Given the description of an element on the screen output the (x, y) to click on. 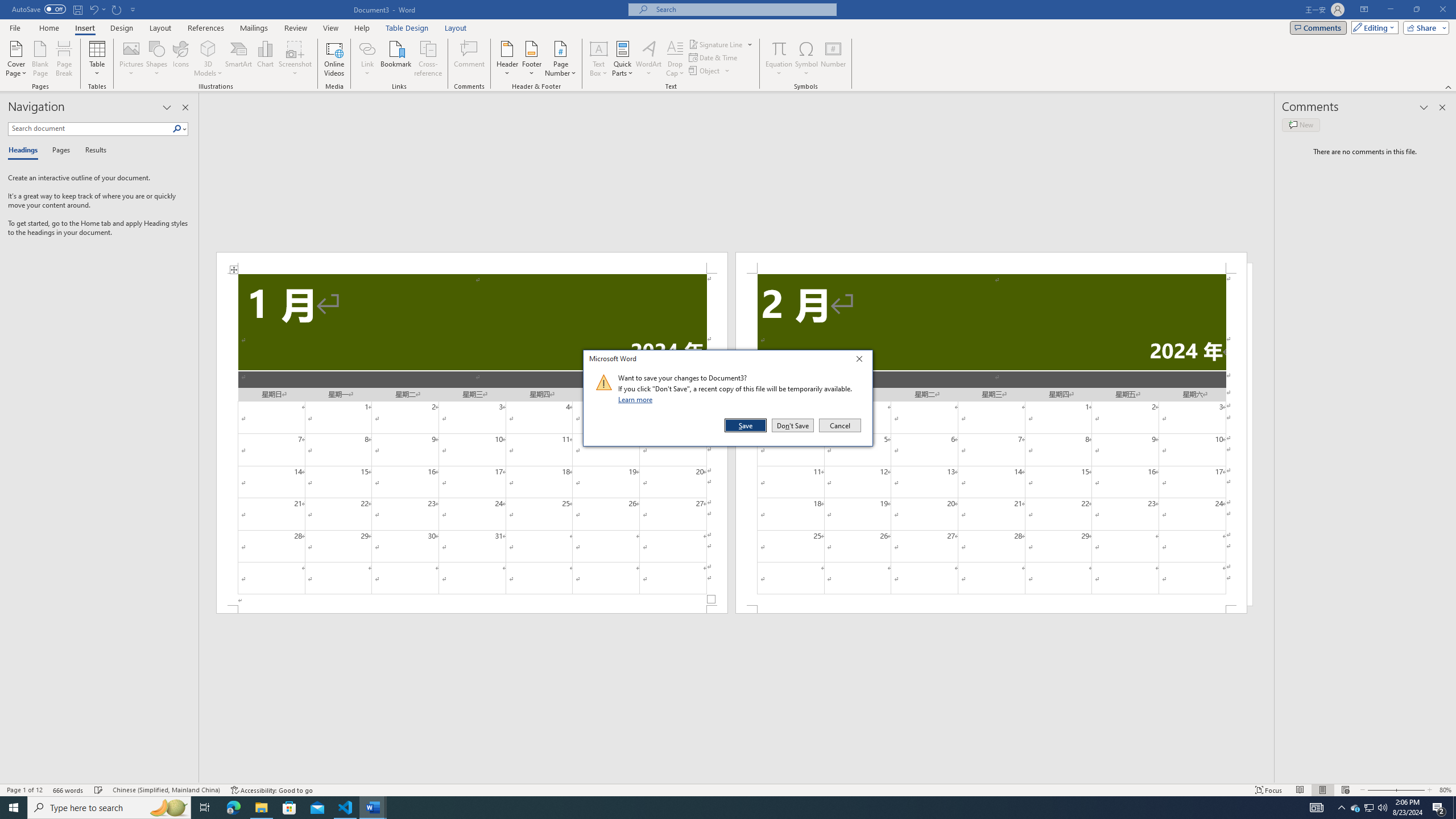
Footer -Section 1- (471, 609)
Don't Save (792, 425)
Accessibility Checker Accessibility: Good to go (271, 790)
Search highlights icon opens search home window (167, 807)
Mailings (253, 28)
Learn more (1368, 807)
Icons (636, 399)
AutoSave (180, 58)
Object... (38, 9)
Zoom In (705, 69)
Pages (1408, 790)
